Given the description of an element on the screen output the (x, y) to click on. 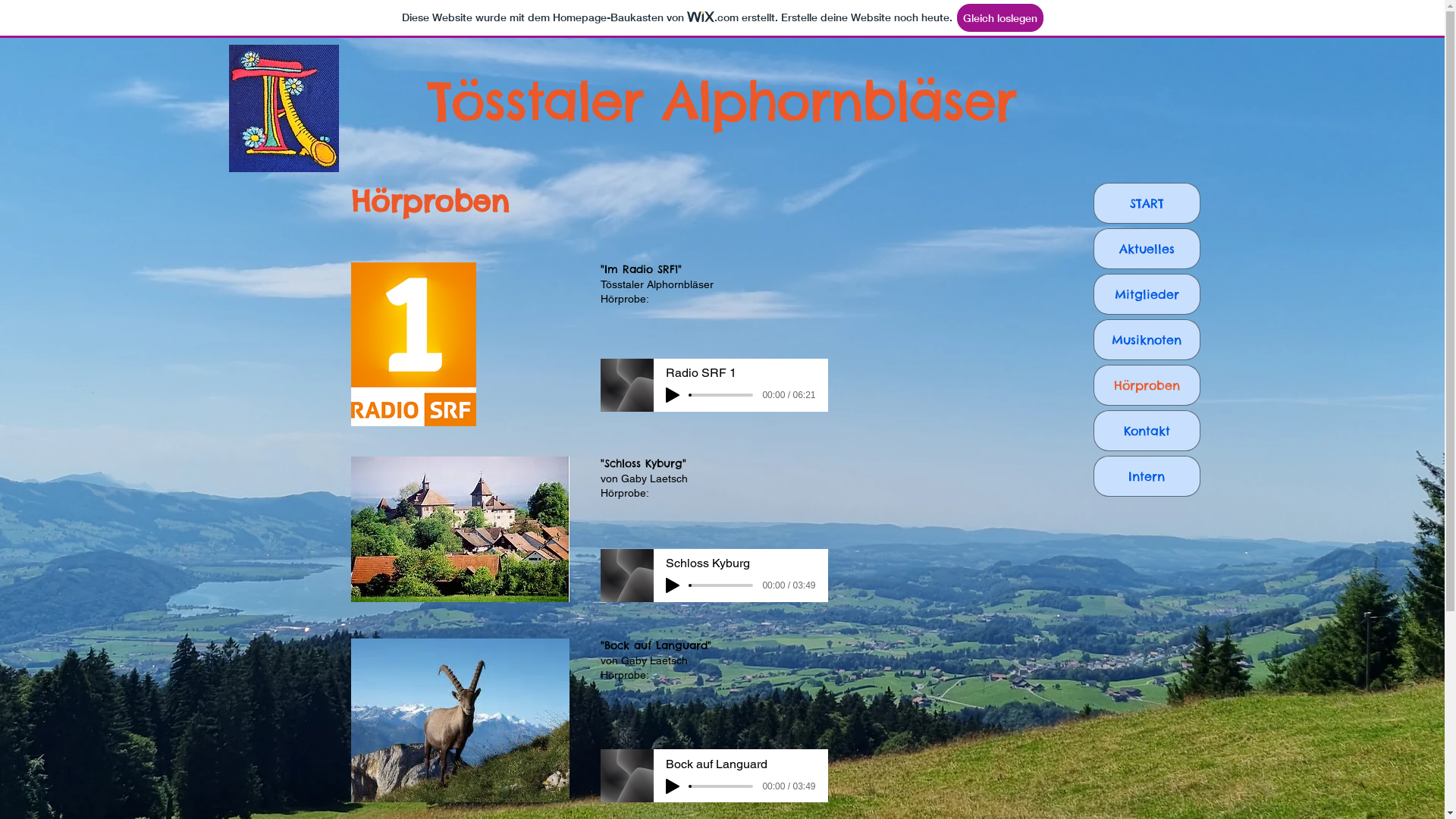
Aktuelles Element type: text (1145, 248)
Musiknoten Element type: text (1145, 339)
Mitglieder Element type: text (1145, 293)
Intern Element type: text (1145, 475)
Kontakt Element type: text (1145, 430)
musik_BockSteinbock.jpg Element type: hover (459, 720)
srf1.png Element type: hover (459, 344)
musik_SchlossKyburg.jpg Element type: hover (459, 529)
START Element type: text (1145, 202)
